Given the description of an element on the screen output the (x, y) to click on. 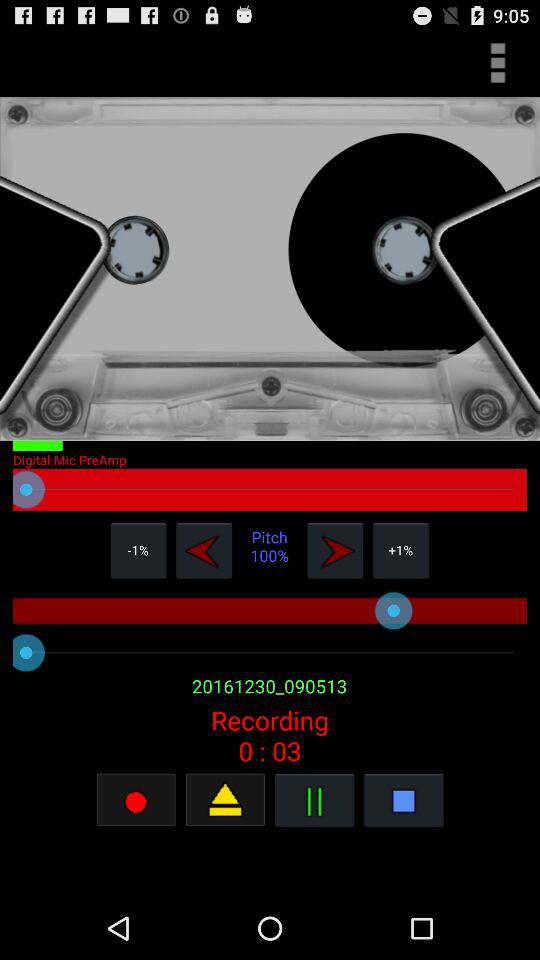
start recording (135, 799)
